Given the description of an element on the screen output the (x, y) to click on. 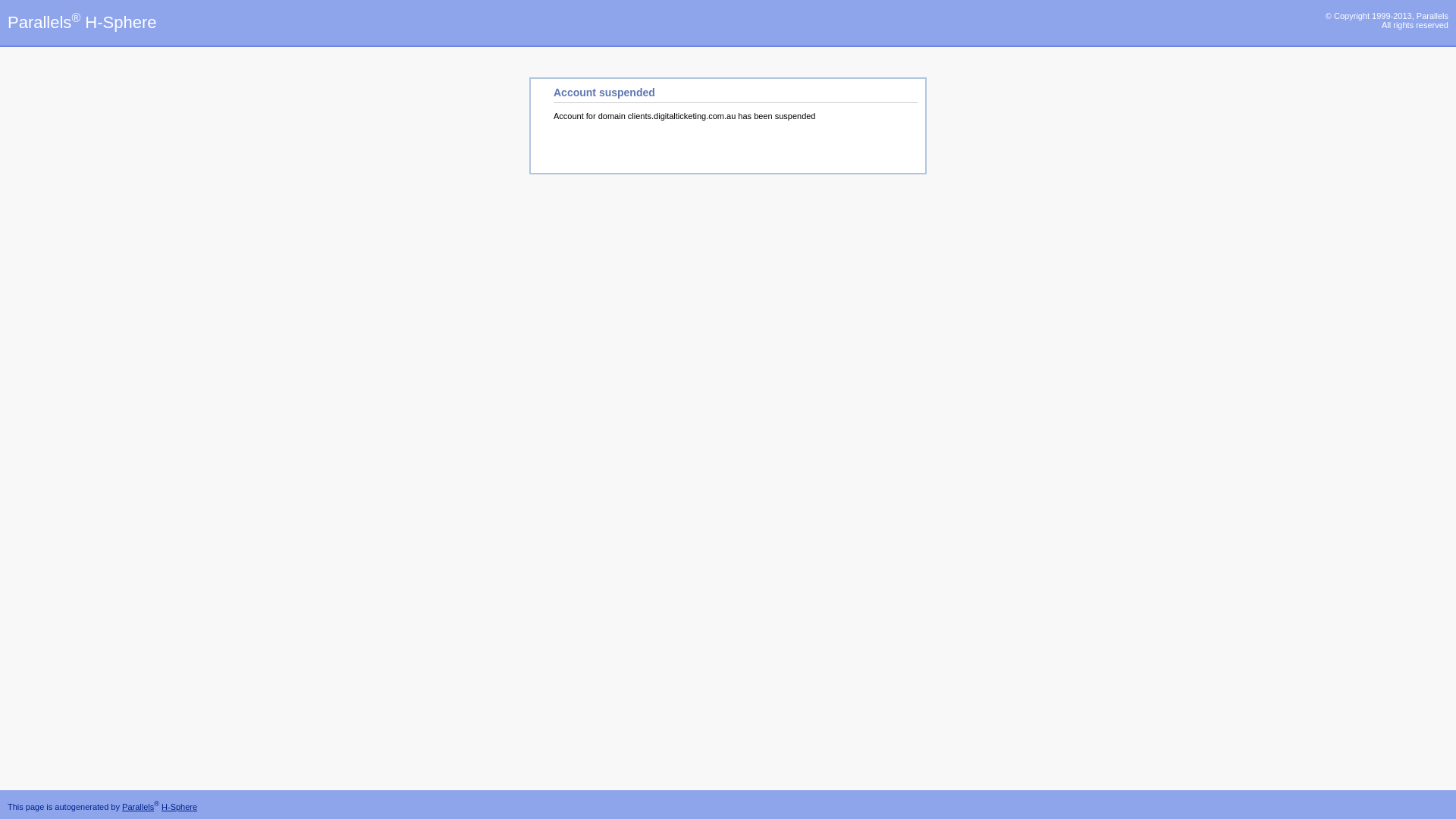
H-Sphere Element type: text (179, 806)
Parallels Element type: text (137, 806)
